Given the description of an element on the screen output the (x, y) to click on. 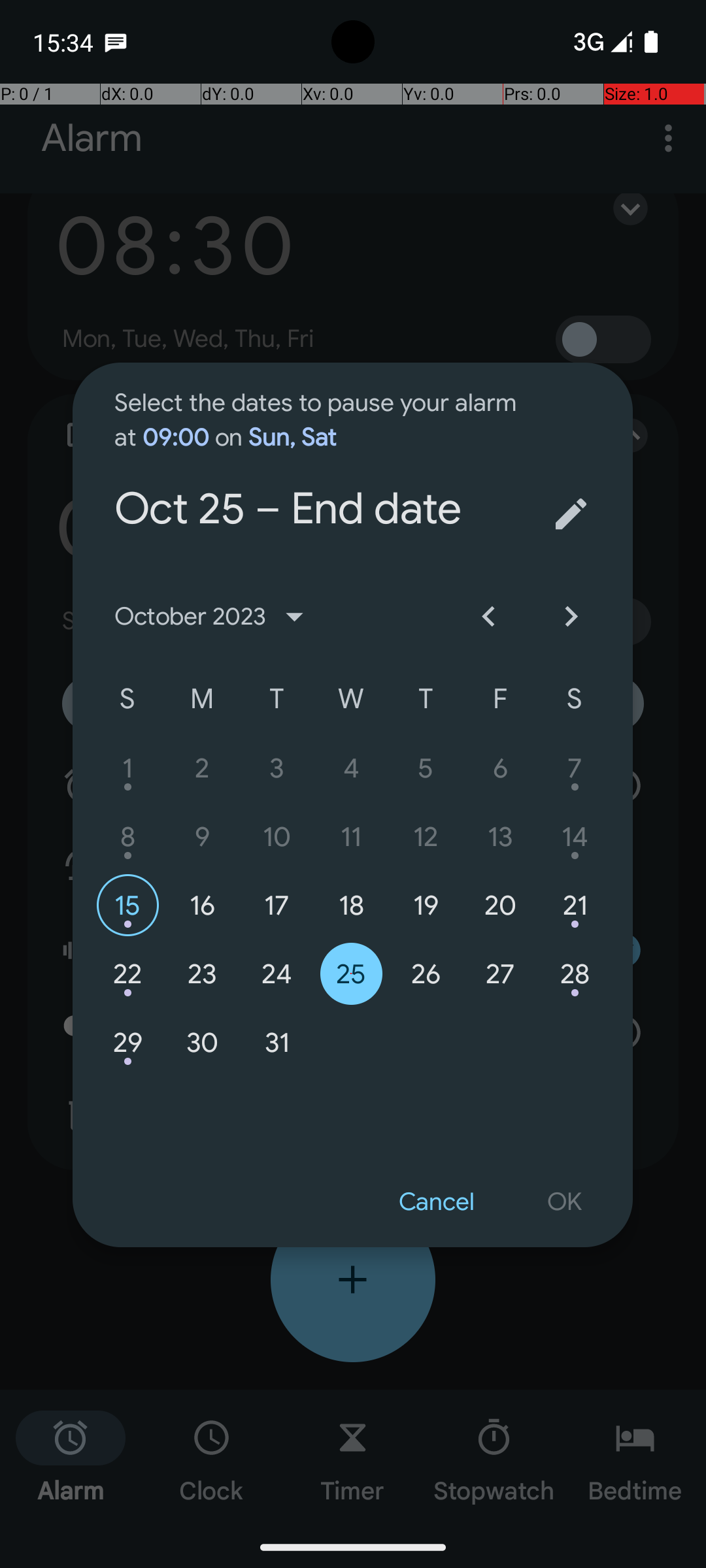
Switch to text input mode Element type: android.widget.ImageButton (570, 513)
October 2023 Element type: android.widget.Button (214, 616)
Change to previous month Element type: android.widget.Button (488, 616)
Change to next month Element type: android.widget.Button (570, 616)
Oct 25 – End date Element type: android.widget.TextView (321, 454)
Select the dates to pause your alarm at 09:00 on Sun, Sat Element type: android.widget.TextView (321, 407)
